Given the description of an element on the screen output the (x, y) to click on. 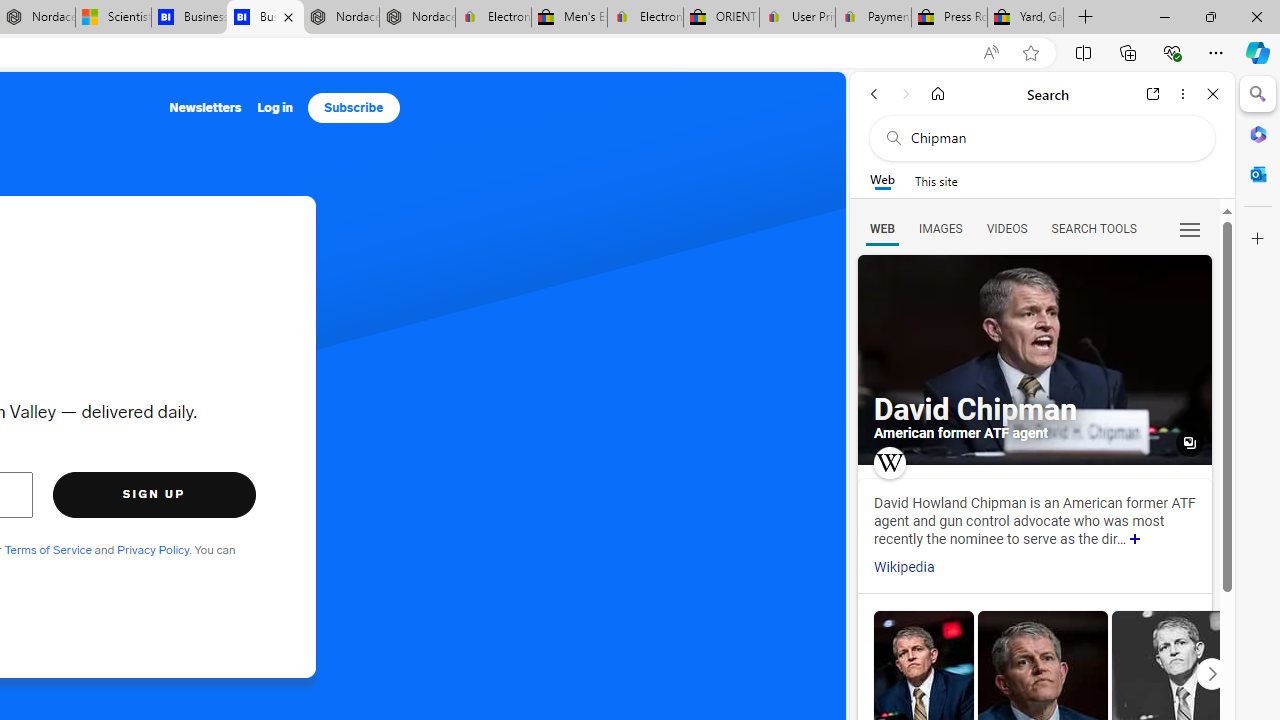
All images (1190, 443)
Subscribe (353, 107)
